Given the description of an element on the screen output the (x, y) to click on. 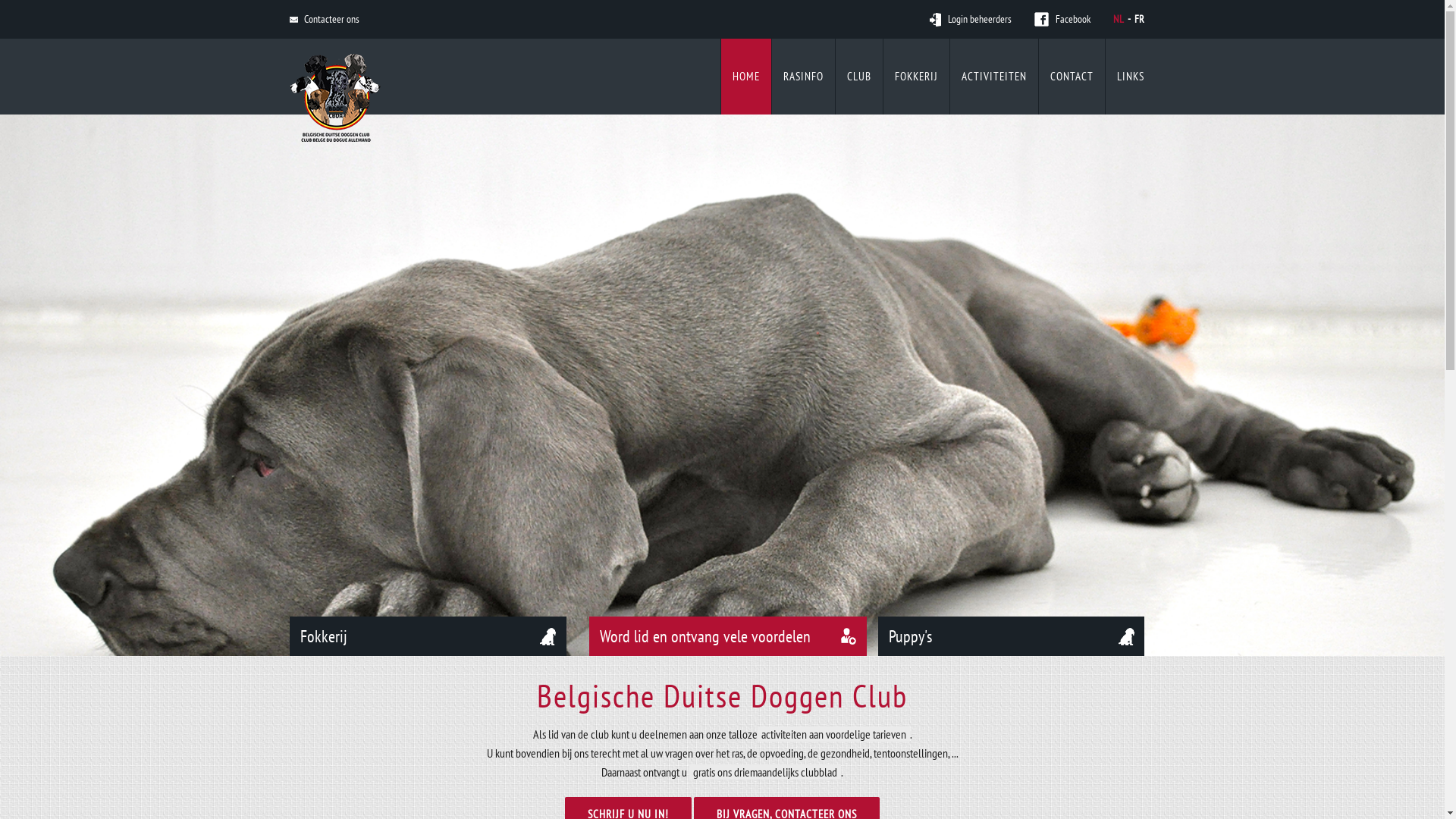
Contacteer ons Element type: text (324, 18)
FR Element type: text (1139, 18)
RASINFO Element type: text (802, 76)
Facebook Element type: text (1062, 18)
NL Element type: text (1118, 18)
HOME Element type: text (745, 76)
CLUB Element type: text (858, 76)
CONTACT Element type: text (1071, 76)
FOKKERIJ Element type: text (915, 76)
LINKS Element type: text (1130, 76)
ACTIVITEITEN Element type: text (993, 76)
Login beheerders Element type: text (970, 18)
Overslaan en naar de inhoud gaan Element type: text (0, 0)
